Given the description of an element on the screen output the (x, y) to click on. 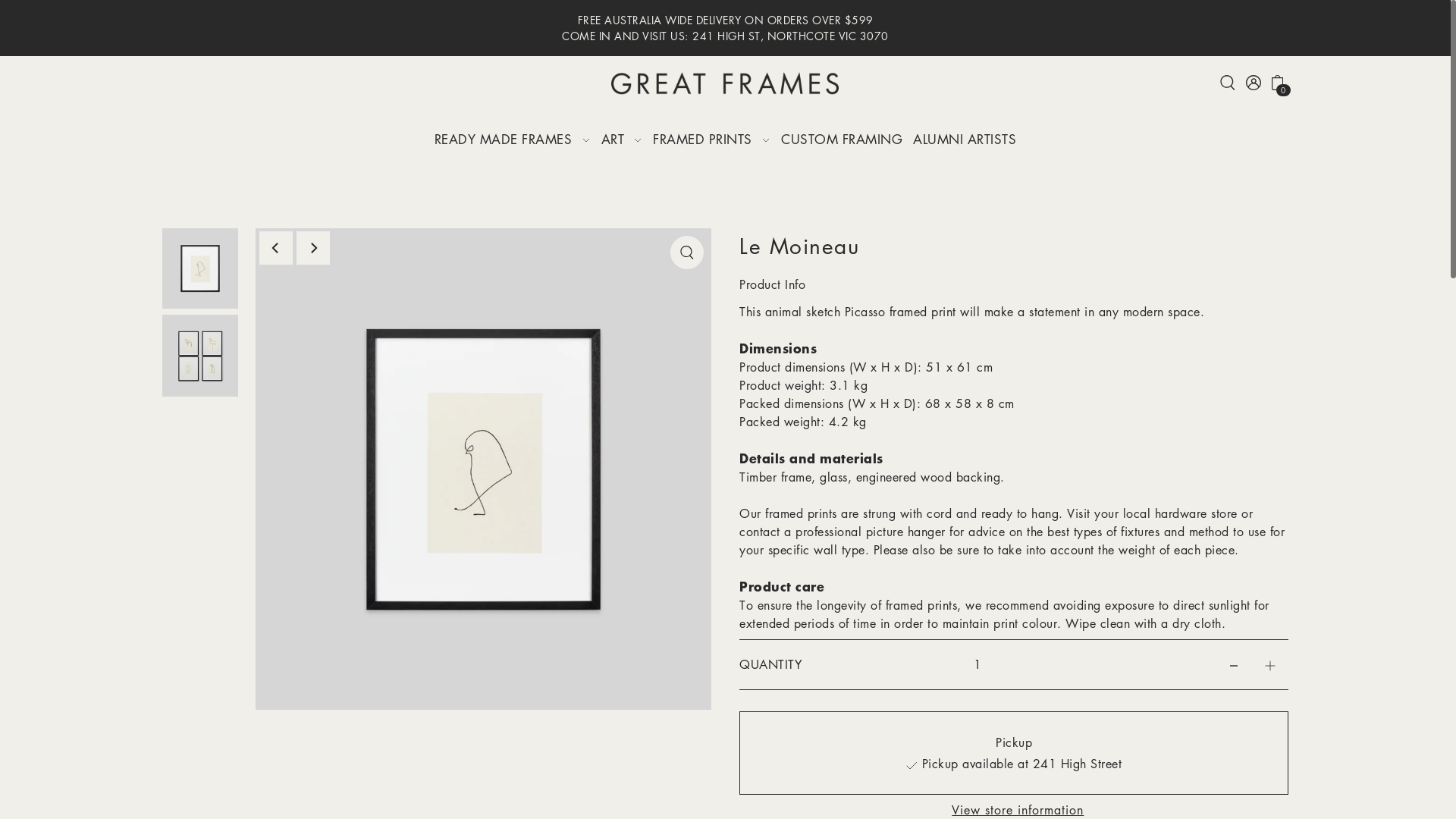
ART Element type: text (621, 139)
CUSTOM FRAMING Element type: text (841, 139)
0 Element type: text (1277, 81)
READY MADE FRAMES Element type: text (512, 139)
ALUMNI ARTISTS Element type: text (964, 139)
FRAMED PRINTS Element type: text (711, 139)
View store information Element type: text (1017, 809)
click to zoom-in Element type: hover (686, 252)
